Given the description of an element on the screen output the (x, y) to click on. 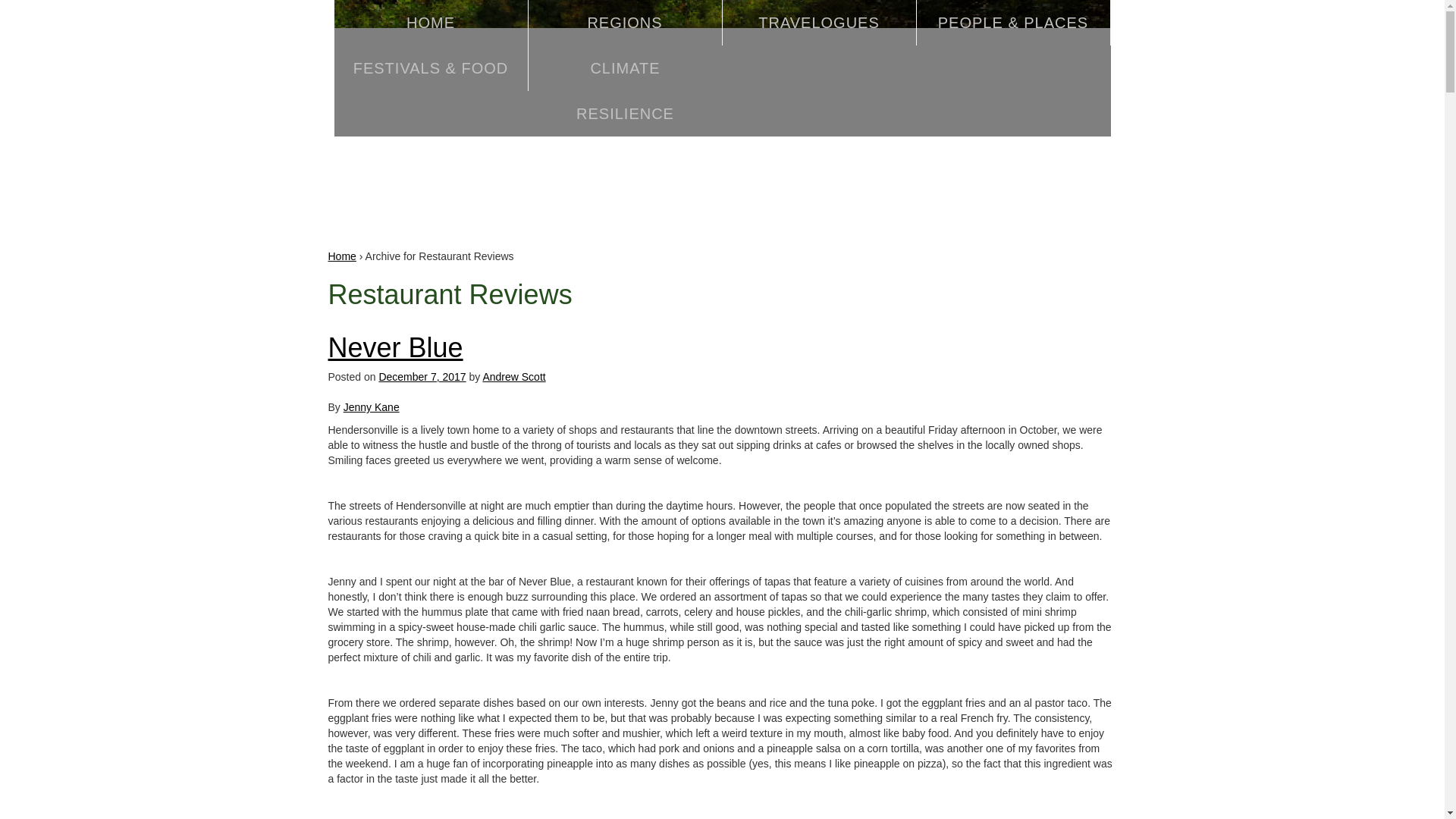
Jenny Kane (370, 407)
REGIONS (624, 22)
TRAVELOGUES (818, 22)
Home (341, 256)
CLIMATE RESILIENCE (624, 90)
View all posts by Andrew Scott (512, 377)
Andrew Scott (512, 377)
5:47 pm (421, 377)
December 7, 2017 (421, 377)
Never Blue (395, 347)
Highway 64 (721, 104)
HOME (430, 22)
